Given the description of an element on the screen output the (x, y) to click on. 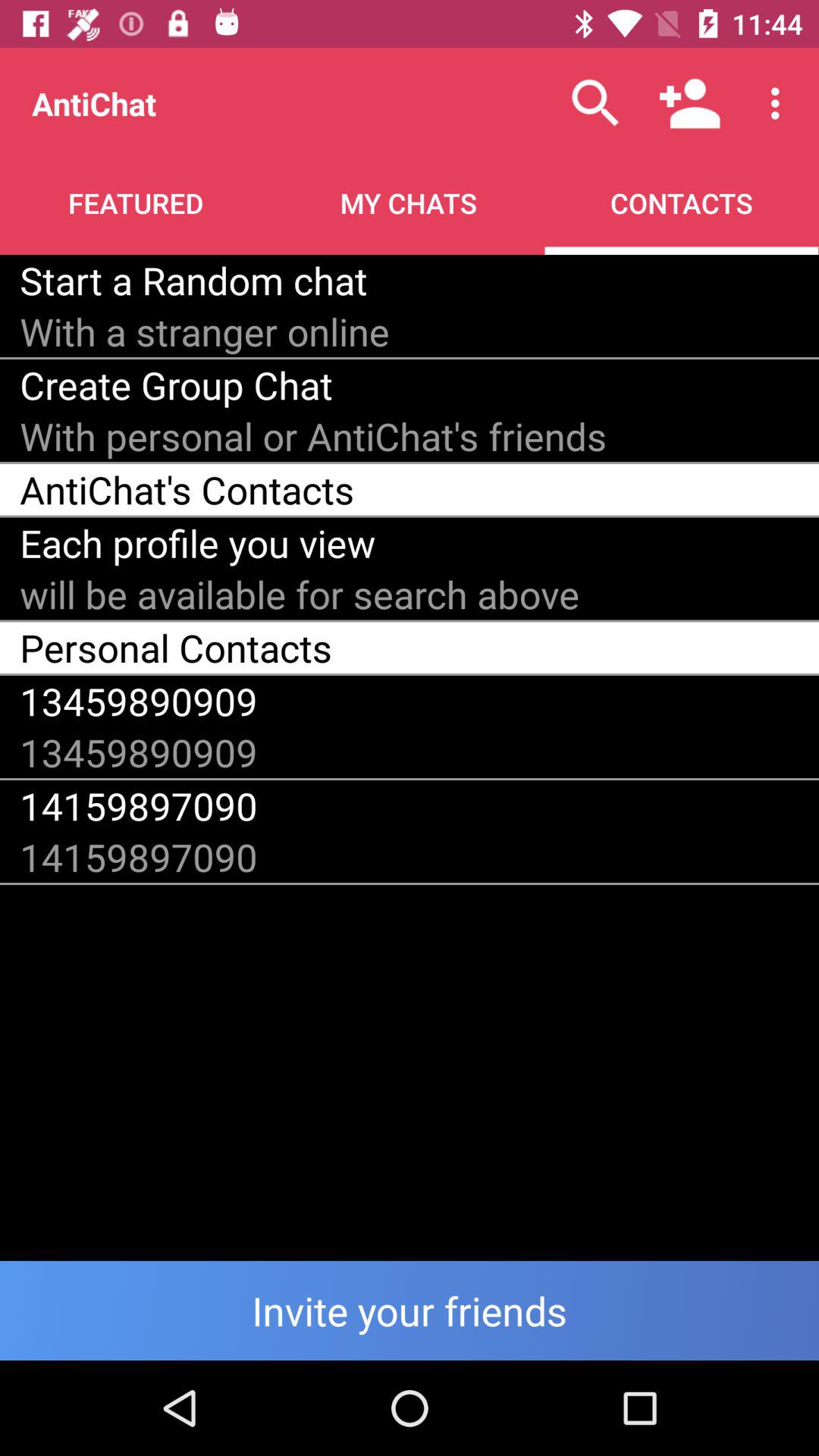
turn off will be available at the center (299, 593)
